Given the description of an element on the screen output the (x, y) to click on. 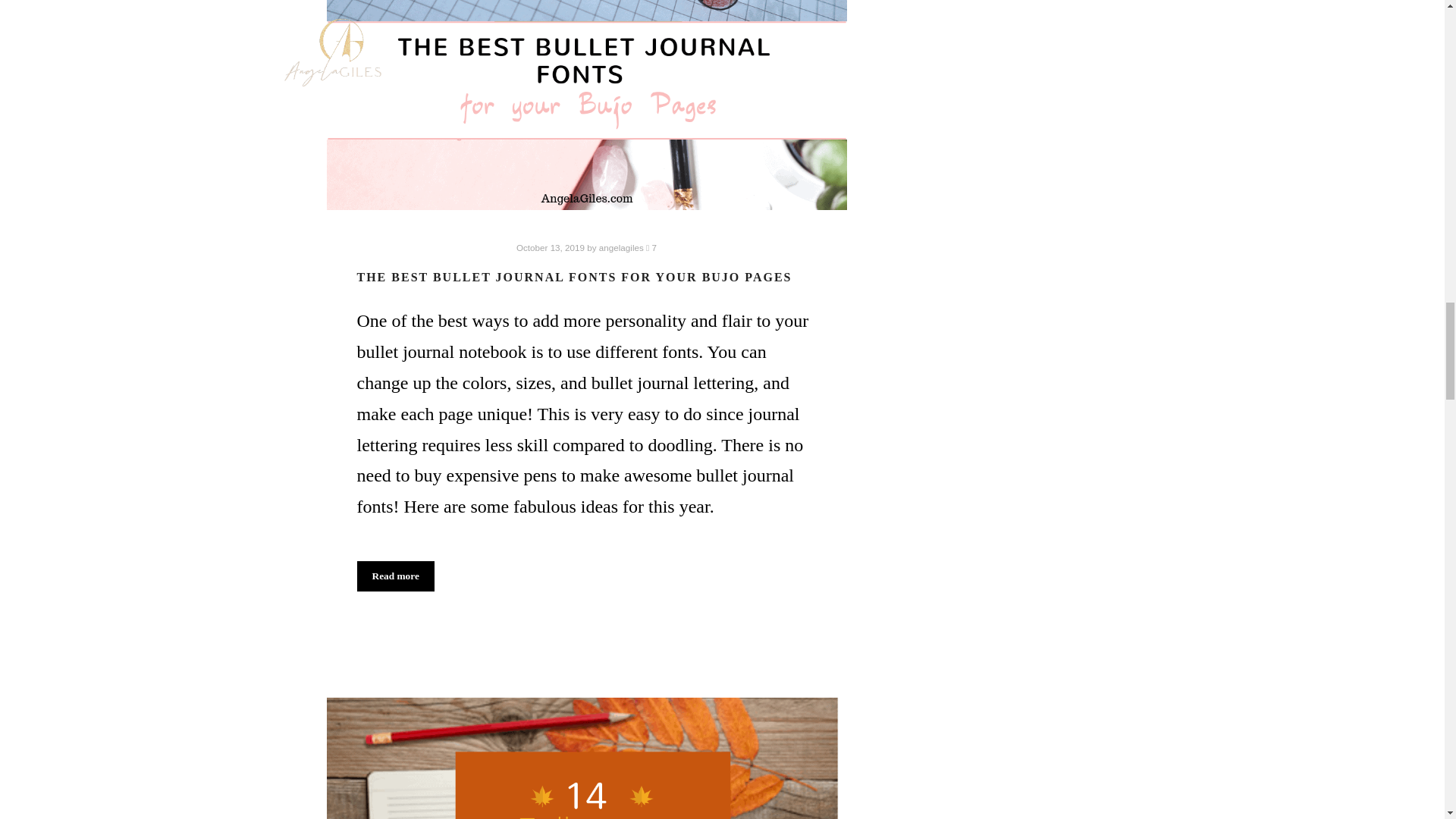
View all posts by angelagiles (620, 247)
